Given the description of an element on the screen output the (x, y) to click on. 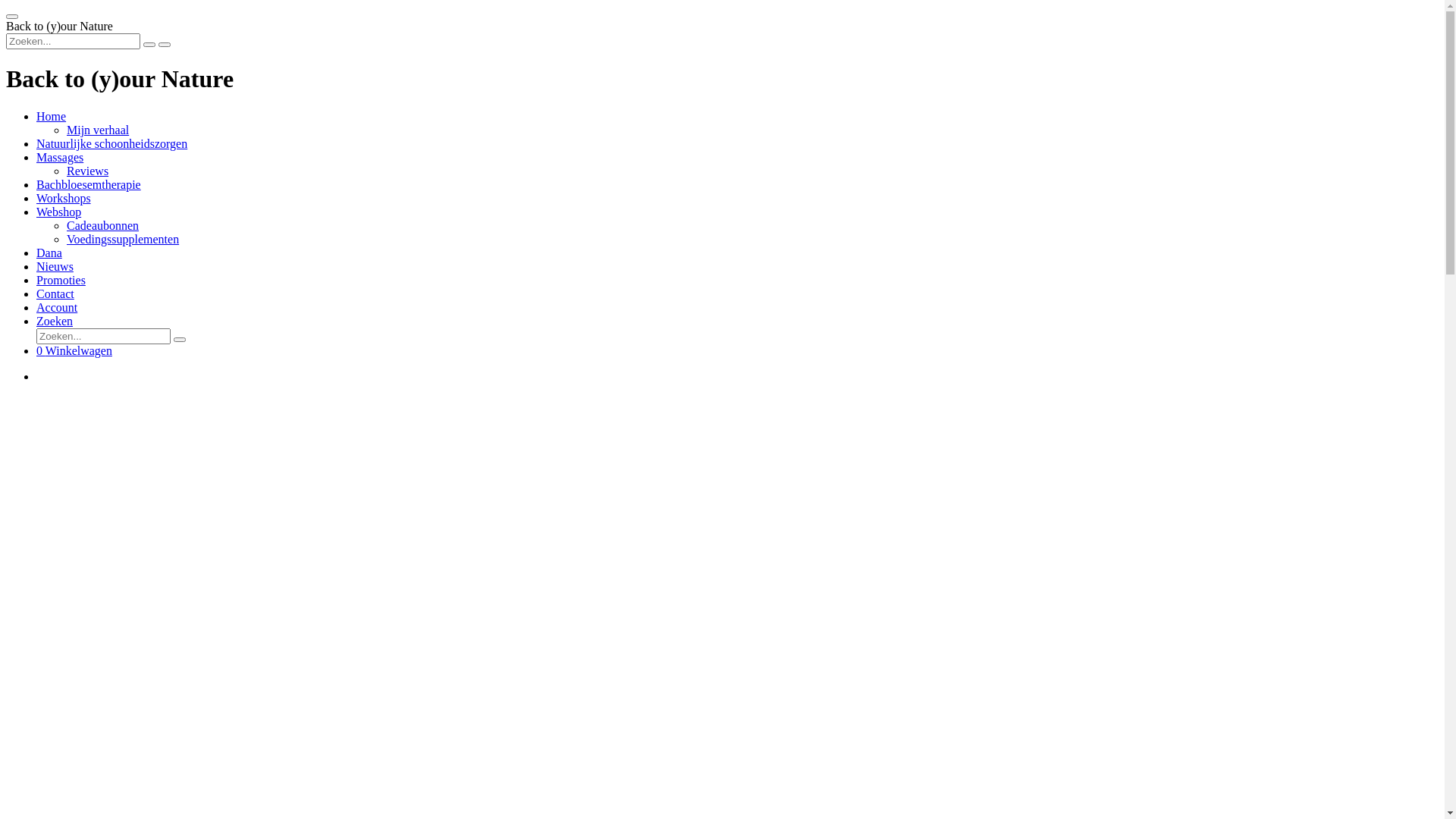
Home Element type: text (50, 115)
Cadeaubonnen Element type: text (102, 225)
Zoeken Element type: text (54, 320)
Nieuws Element type: text (54, 266)
Dana Element type: text (49, 252)
Account Element type: text (56, 307)
Mijn verhaal Element type: text (97, 129)
Massages Element type: text (59, 156)
Contact Element type: text (55, 293)
Workshops Element type: text (63, 197)
Bachbloesemtherapie Element type: text (88, 184)
0 Winkelwagen Element type: text (74, 350)
Webshop Element type: text (58, 211)
Voedingssupplementen Element type: text (122, 238)
Promoties Element type: text (60, 279)
Natuurlijke schoonheidszorgen Element type: text (111, 143)
Reviews Element type: text (87, 170)
